Given the description of an element on the screen output the (x, y) to click on. 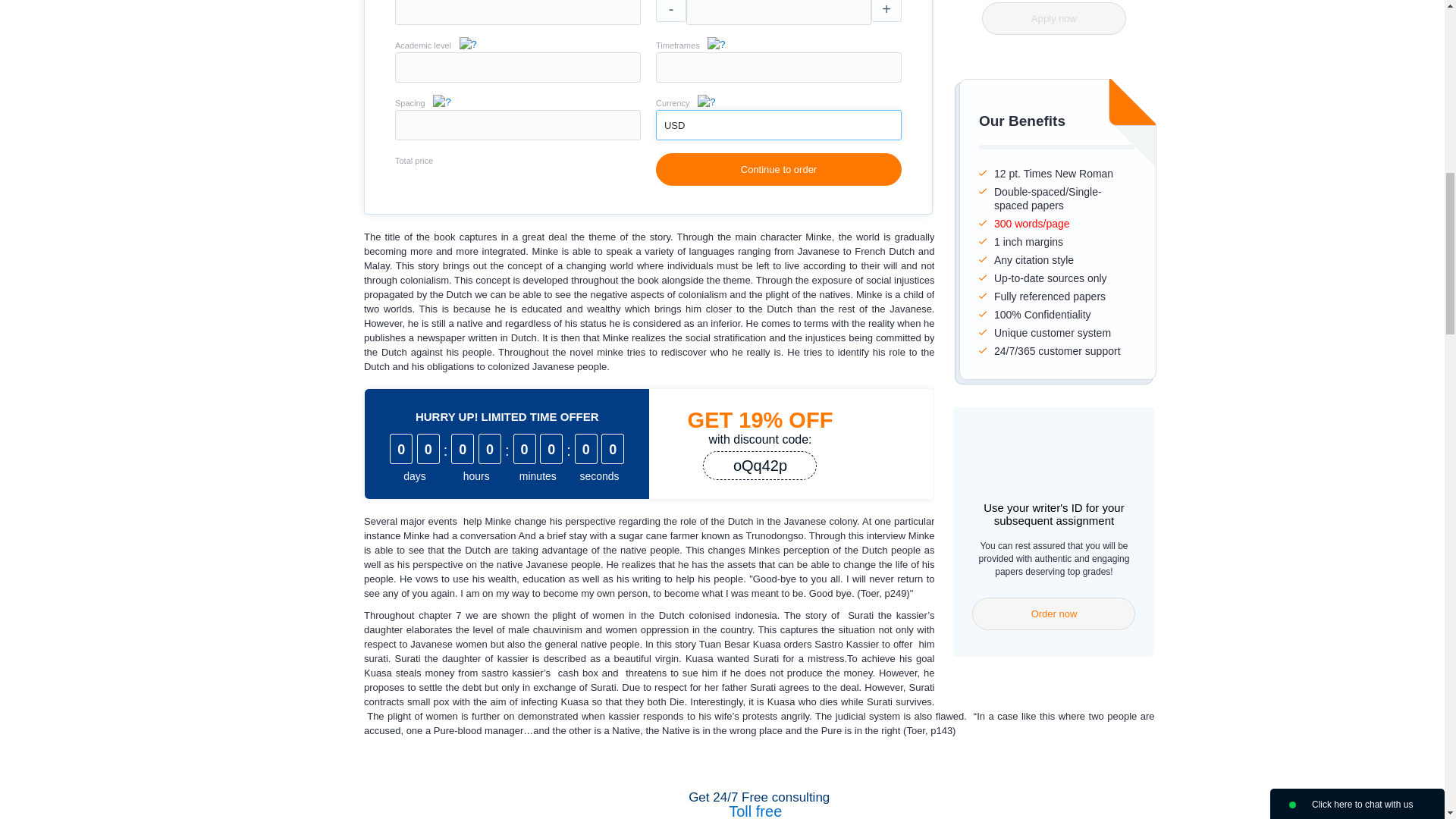
Apply now (1053, 18)
Order now (1053, 613)
1 (778, 124)
Continue to order (778, 169)
